Given the description of an element on the screen output the (x, y) to click on. 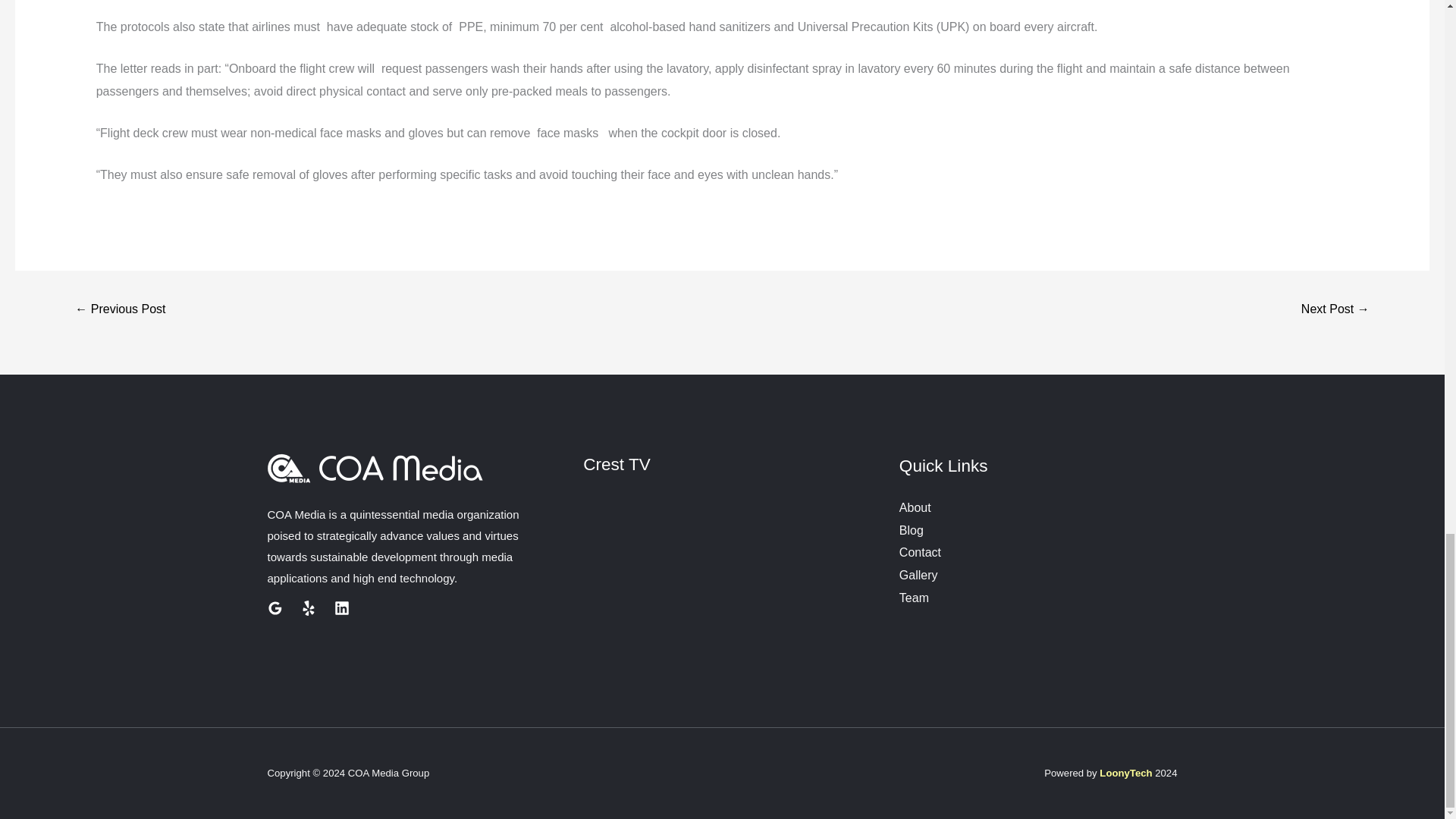
LoonyTech (1125, 772)
About (915, 507)
Oil thief bags two-year prison term in Port Harcourt (1334, 310)
Blog (911, 530)
Contact (919, 552)
Gallery (918, 574)
Plateau IGR hits over N7BN in 3 months (119, 310)
Team (913, 597)
